Given the description of an element on the screen output the (x, y) to click on. 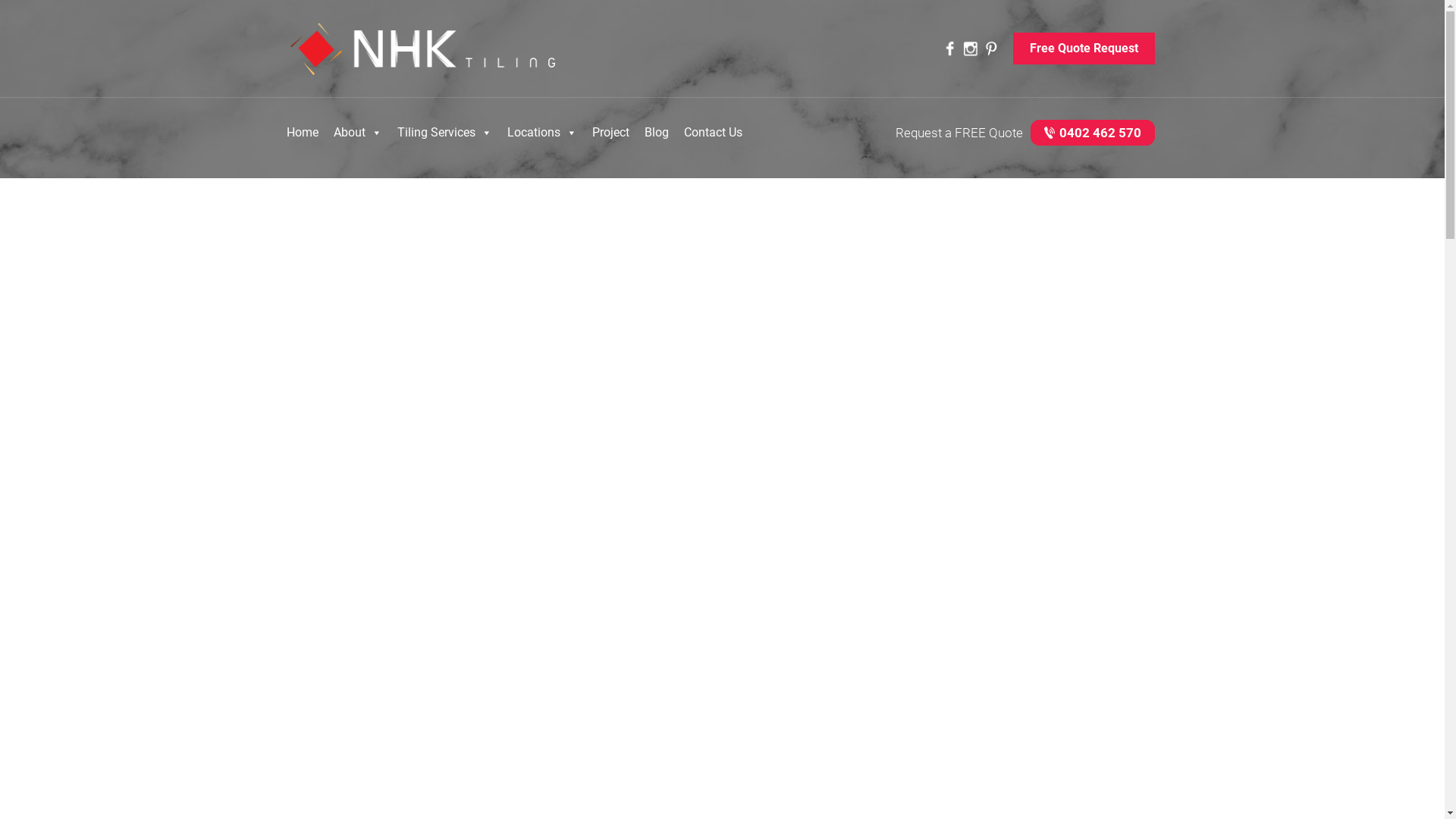
Free Quote Request Element type: text (1083, 48)
Blog Element type: text (656, 132)
Locations Element type: text (540, 132)
Project Element type: text (609, 132)
Tiling Services Element type: text (444, 132)
0402 462 570 Element type: text (1091, 132)
Home Element type: text (302, 132)
About Element type: text (357, 132)
Contact Us Element type: text (712, 132)
